Given the description of an element on the screen output the (x, y) to click on. 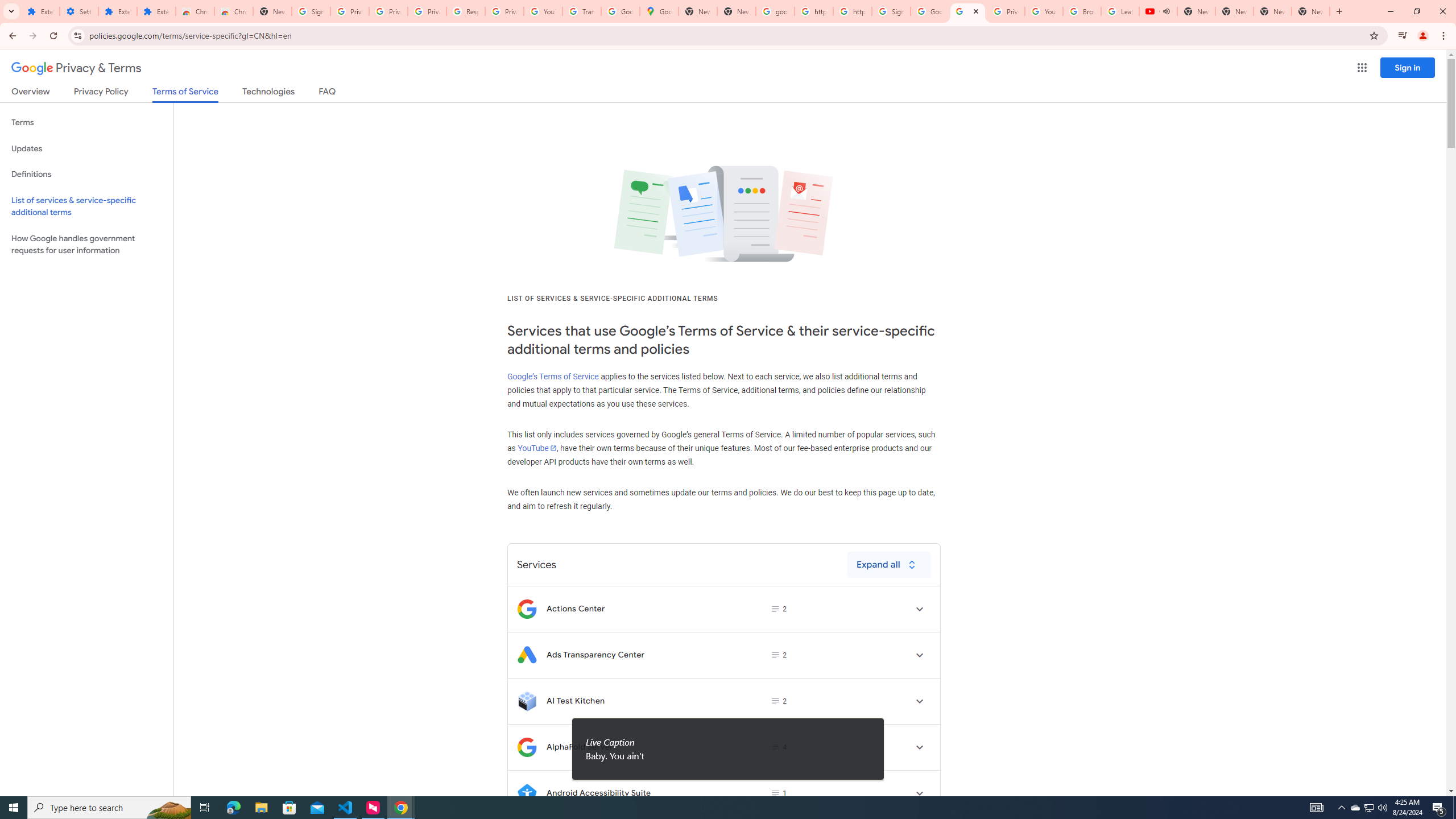
Chrome Web Store (194, 11)
Sign in - Google Accounts (890, 11)
Definitions (86, 174)
Extensions (117, 11)
Extensions (40, 11)
Expand all (888, 564)
Logo for AlphaFold Server (526, 746)
